Given the description of an element on the screen output the (x, y) to click on. 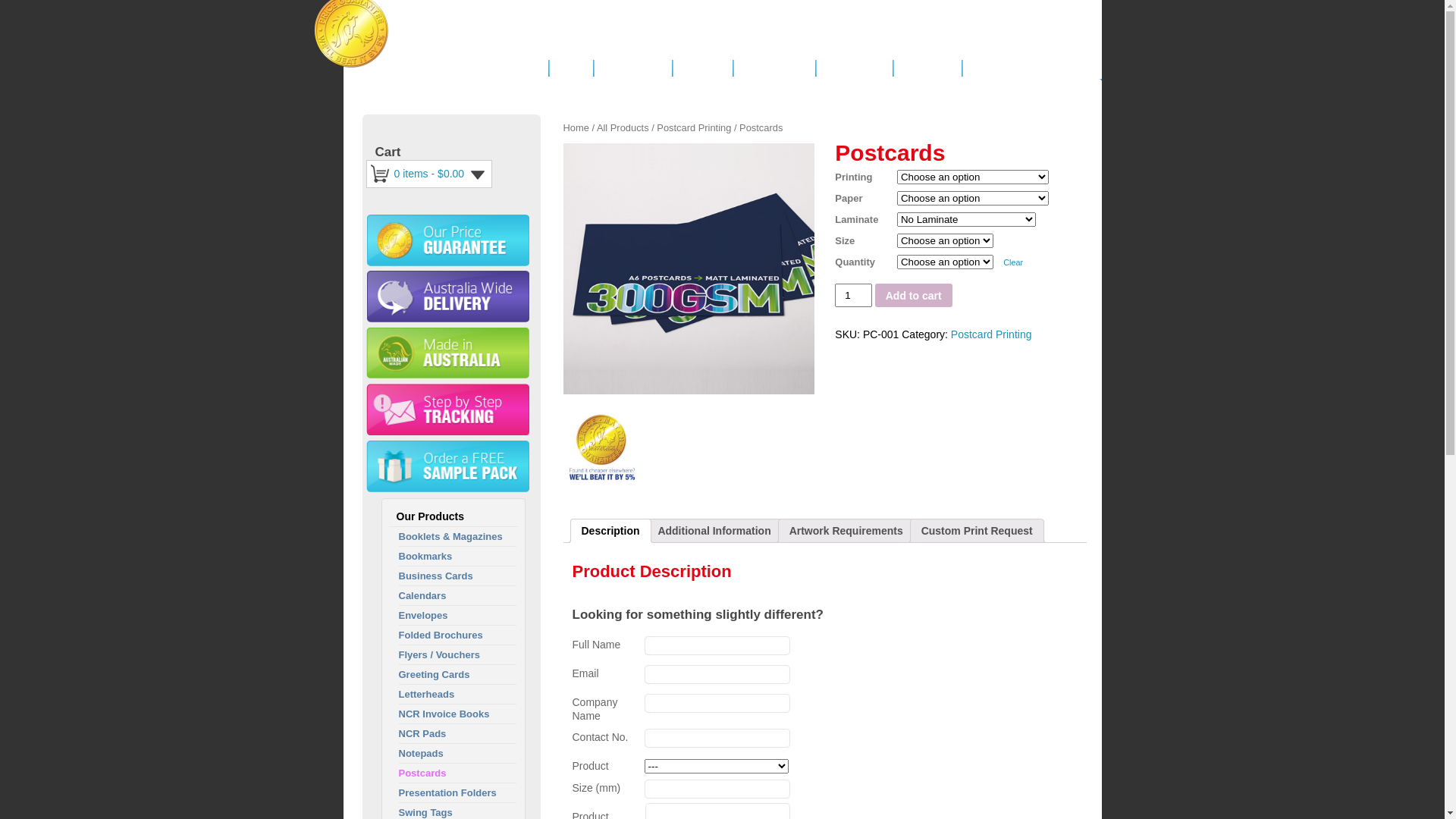
Additional Information Element type: text (713, 530)
Presentation Folders Element type: text (447, 792)
Greeting Cards Element type: text (434, 674)
Booklets & Magazines Element type: text (450, 536)
NCR Invoice Books Element type: text (443, 713)
Business Cards Element type: text (435, 575)
Swing Tags Element type: text (425, 812)
Description Element type: text (609, 530)
Contact Us Element type: text (926, 68)
Ordering Help Element type: text (773, 68)
Folded Brochures Element type: text (440, 634)
Letterheads Element type: text (426, 693)
Stubby Holders Element type: hover (687, 268)
Clear Element type: text (1012, 261)
Customer Login Element type: text (1006, 68)
Home Element type: text (575, 127)
Postcards Element type: text (422, 772)
Artwork Help Element type: text (853, 68)
All Products Element type: text (622, 127)
NCR Pads Element type: text (422, 733)
DarkHorse Element type: hover (433, 44)
Flyers / Vouchers Element type: text (439, 654)
About Us Element type: text (702, 68)
Our Products Element type: text (632, 68)
Artwork Requirements Element type: text (846, 530)
Home Element type: text (570, 68)
0 items - $0.00 Element type: text (443, 173)
Envelopes Element type: text (423, 615)
Postcard Printing Element type: text (693, 127)
Calendars Element type: text (422, 595)
Custom Print Request Element type: text (976, 530)
Price Gaurantee Square Element type: hover (601, 445)
Notepads Element type: text (420, 753)
Qty Element type: hover (852, 295)
Postcard Printing Element type: text (991, 334)
Add to cart Element type: text (913, 295)
Bookmarks Element type: text (425, 555)
